Given the description of an element on the screen output the (x, y) to click on. 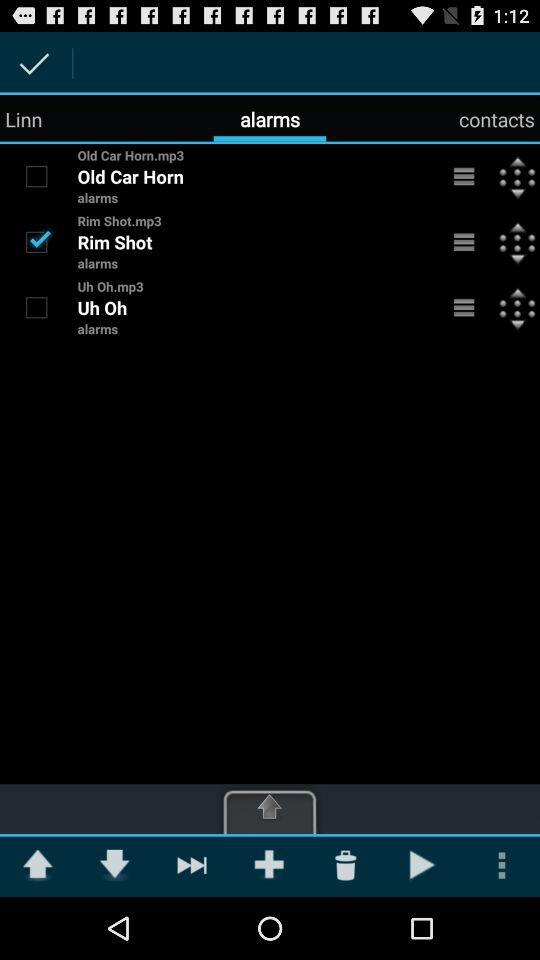
click for more options (463, 307)
